Given the description of an element on the screen output the (x, y) to click on. 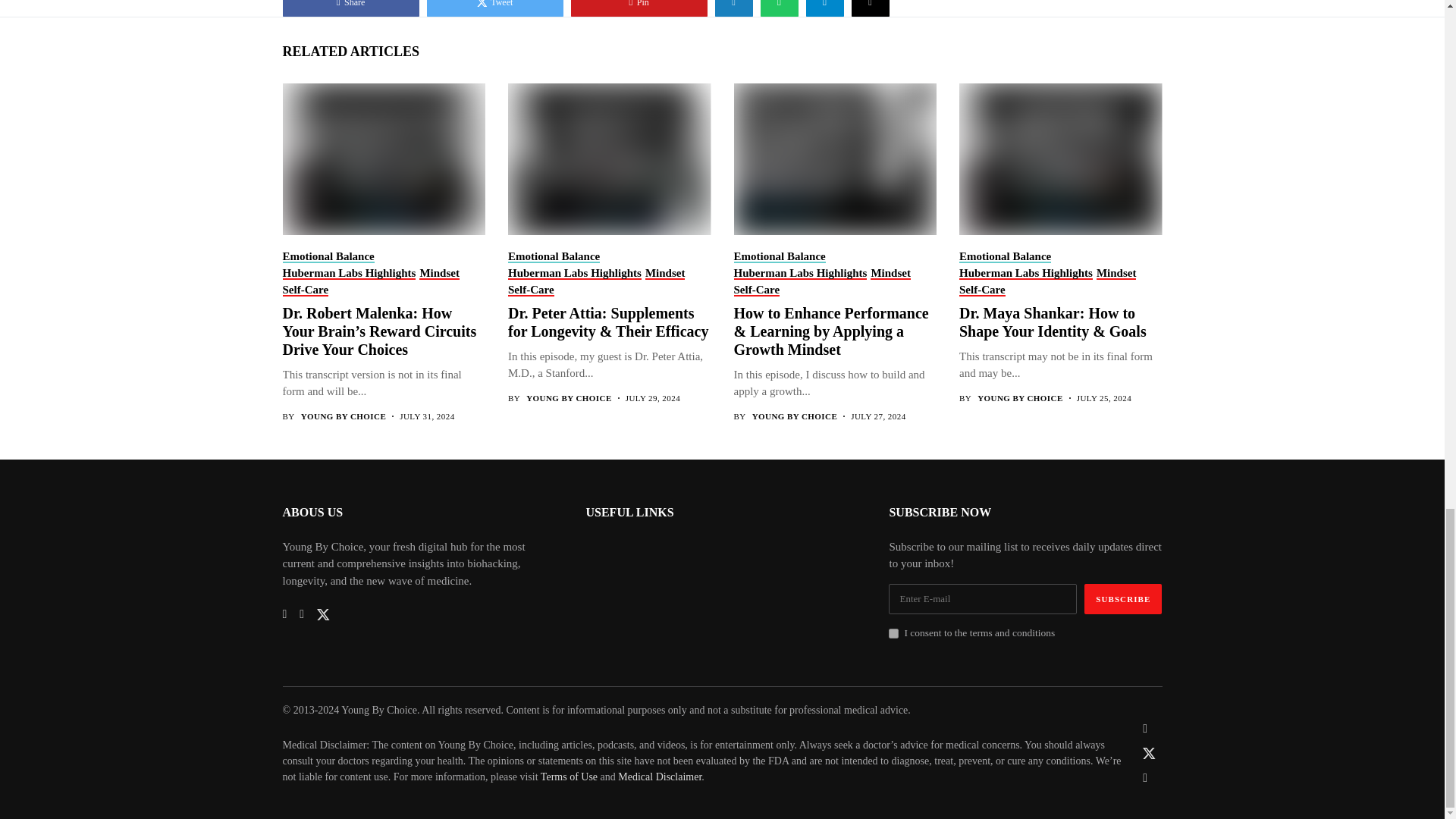
1 (893, 633)
Subscribe (1122, 598)
